Given the description of an element on the screen output the (x, y) to click on. 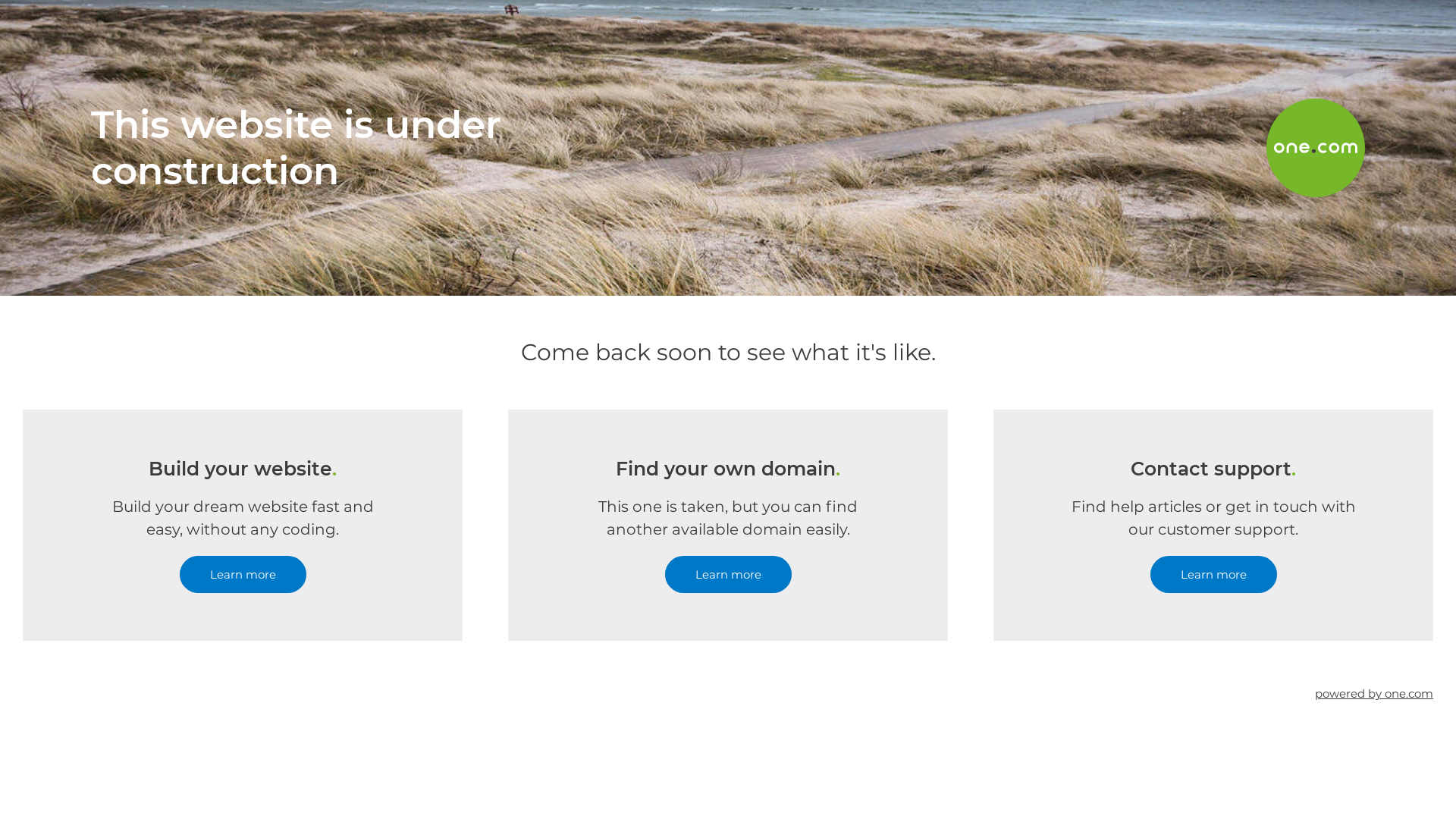
Learn more Element type: text (727, 574)
Learn more Element type: text (1212, 574)
powered by one.com Element type: text (1373, 693)
Learn more Element type: text (241, 574)
